Given the description of an element on the screen output the (x, y) to click on. 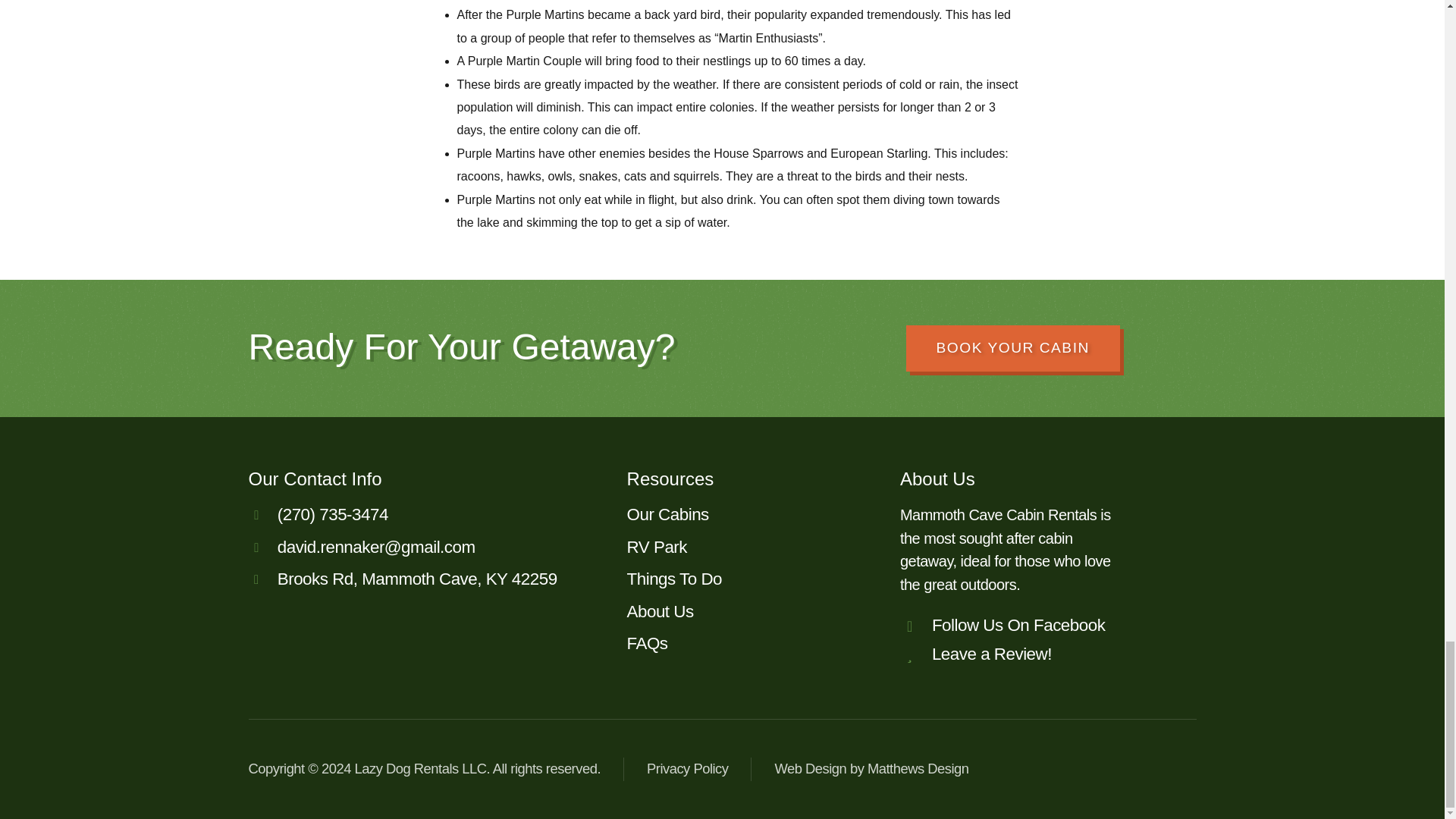
Follow Us On Facebook (1026, 625)
BOOK YOUR CABIN (1012, 348)
FAQs (744, 643)
About Us (744, 611)
RV Park (744, 547)
Our Cabins (744, 514)
Leave a Review! (1026, 653)
Things To Do (744, 579)
